Given the description of an element on the screen output the (x, y) to click on. 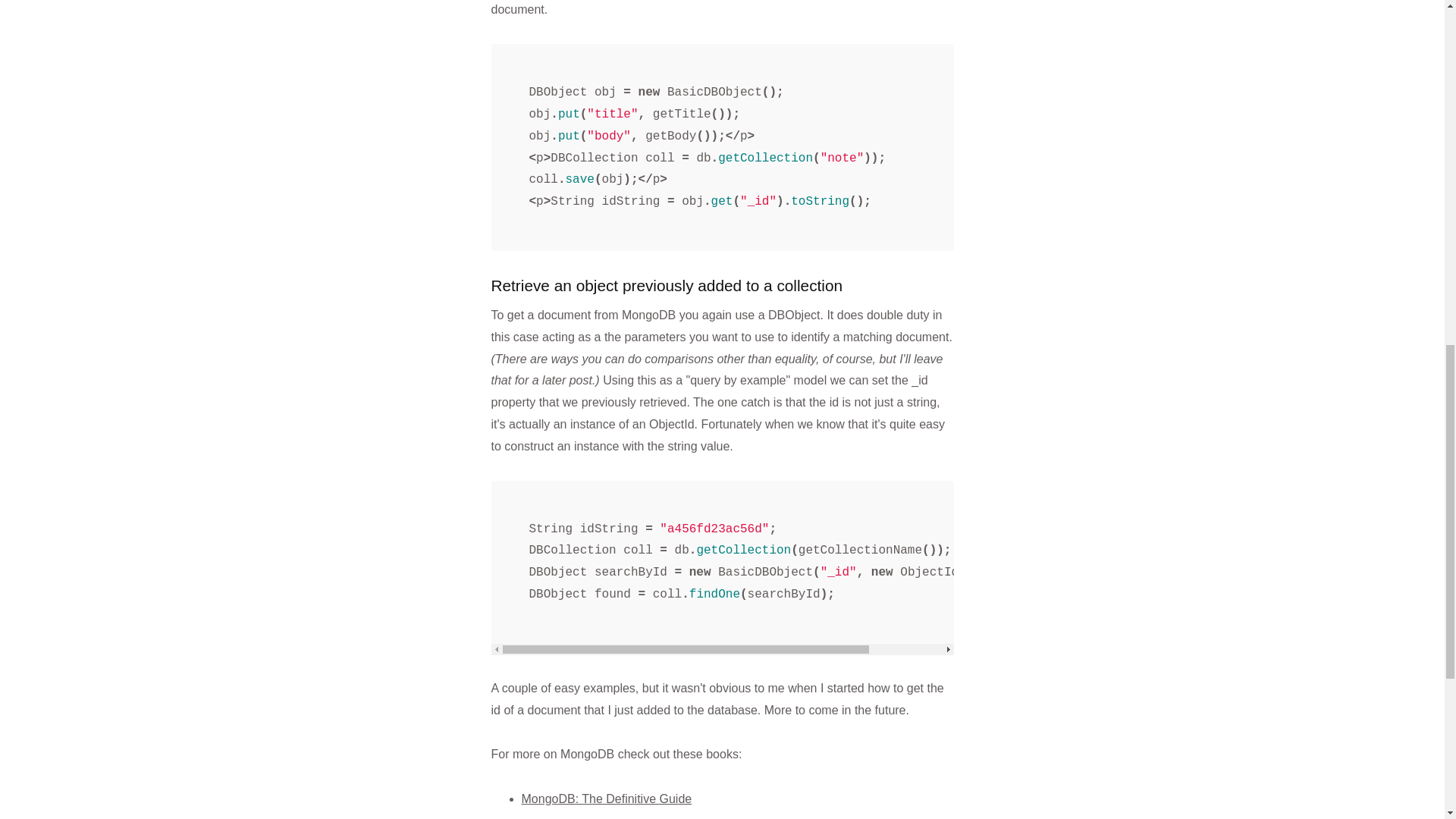
MongoDB: The Definitive Guide (607, 798)
